Given the description of an element on the screen output the (x, y) to click on. 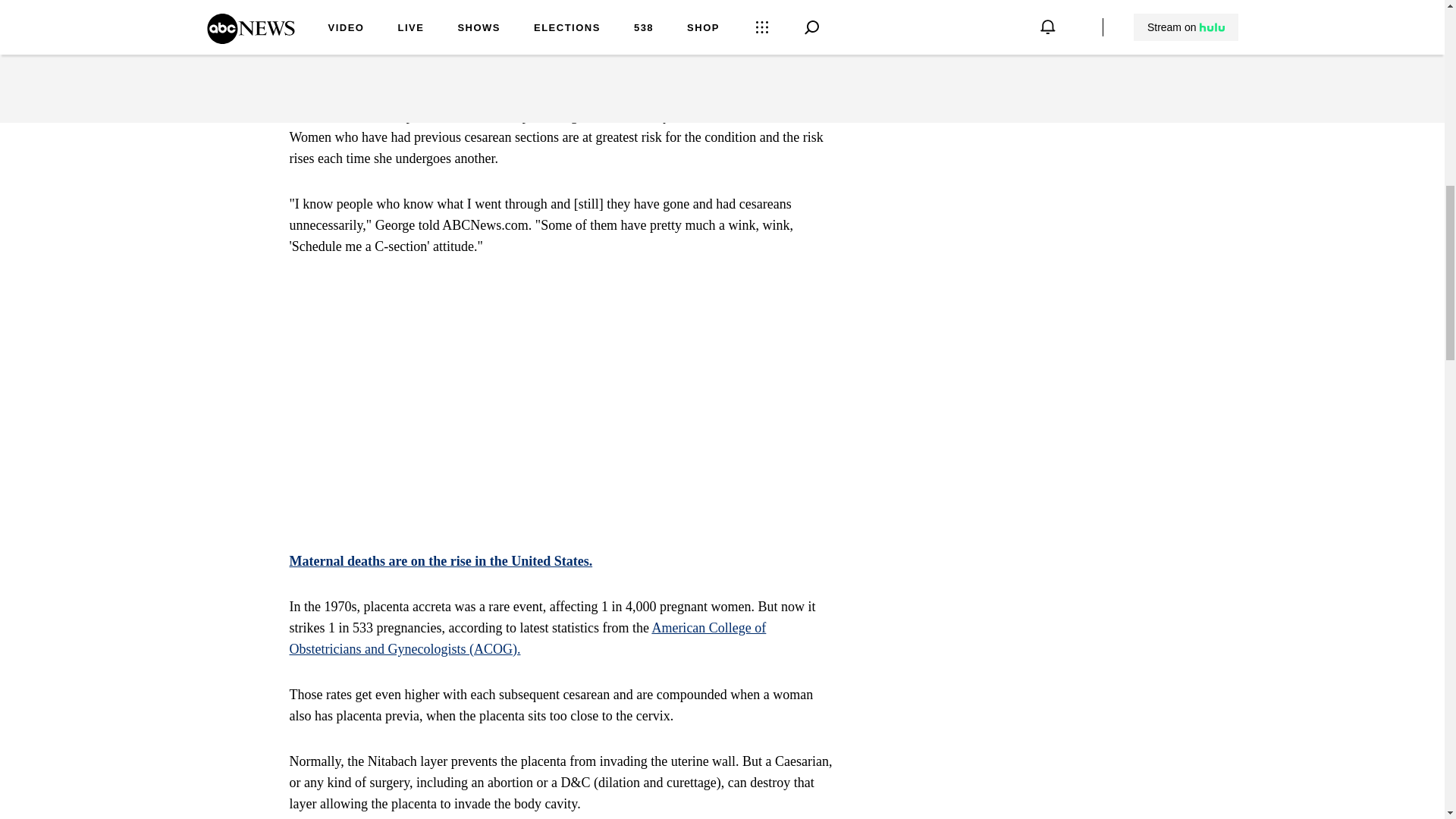
U.S. Centers for Disease Control and Prevention. (553, 70)
Maternal deaths are on the rise in the United States. (440, 560)
